Given the description of an element on the screen output the (x, y) to click on. 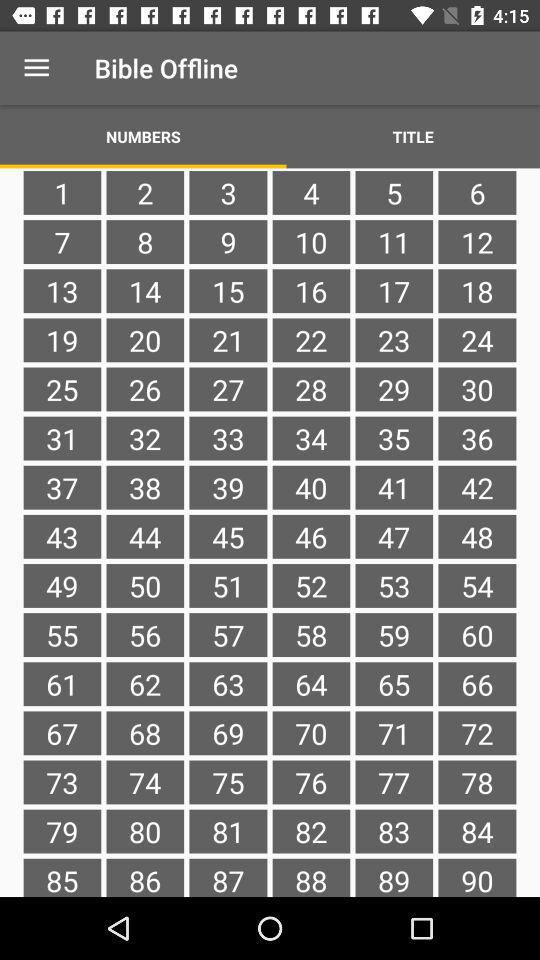
launch the icon below the 57 (311, 684)
